Given the description of an element on the screen output the (x, y) to click on. 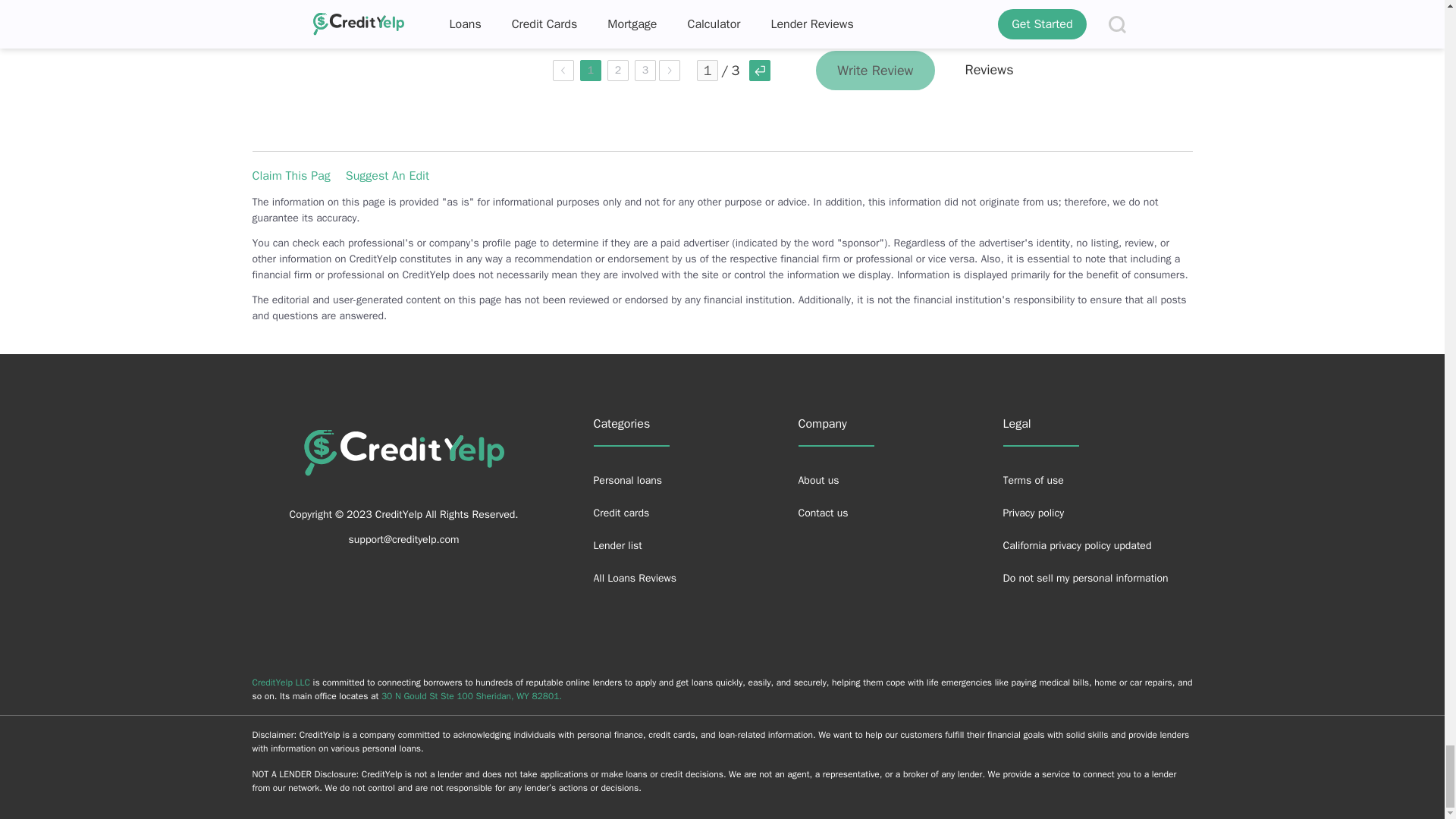
1 (707, 70)
